Given the description of an element on the screen output the (x, y) to click on. 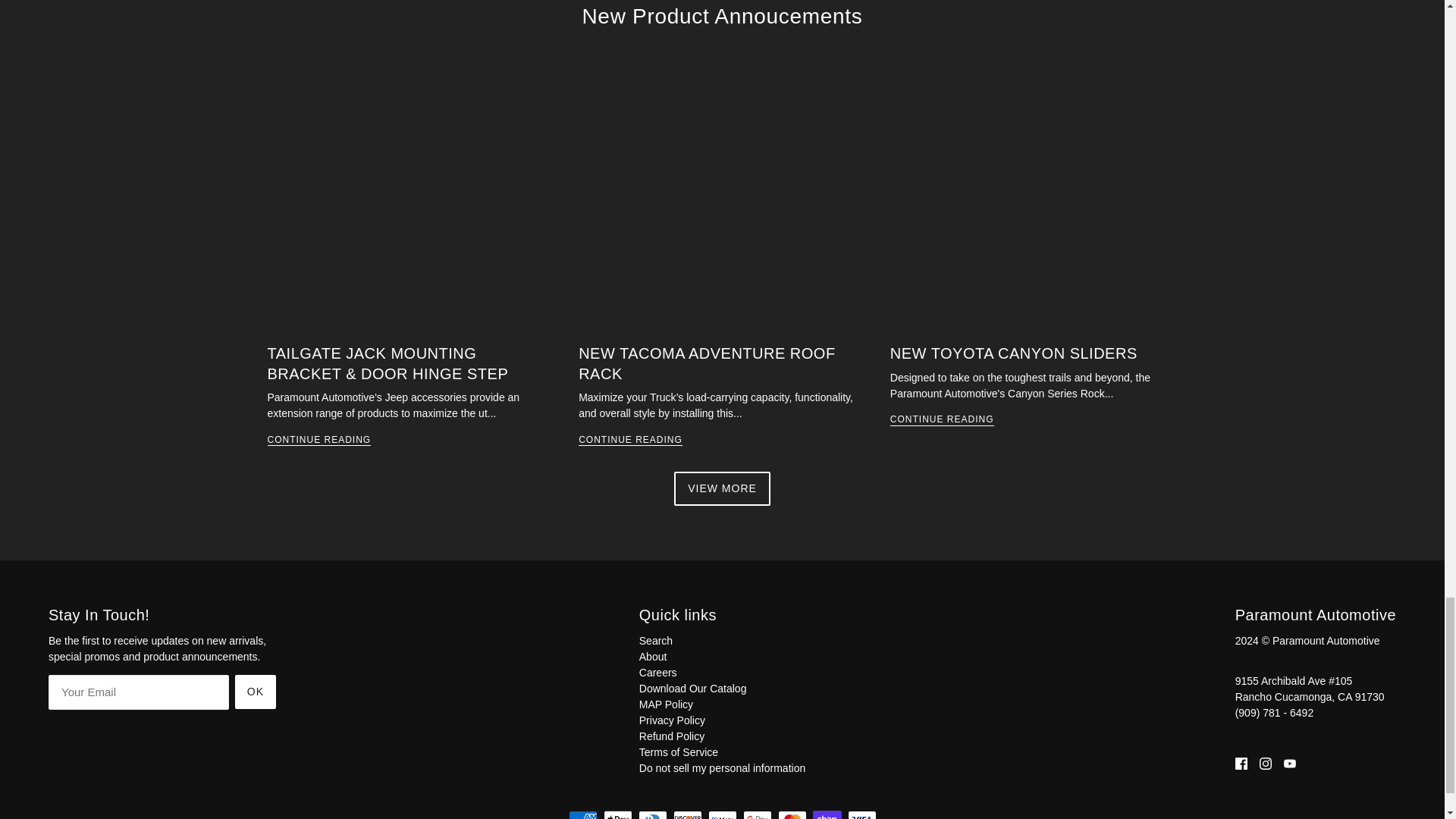
Privacy Policy (671, 720)
Do not sell my personal information (722, 767)
Visa (861, 814)
New Product Annoucements (721, 16)
VIEW MORE (721, 488)
Shop Pay (826, 814)
NEW TACOMA ADVENTURE ROOF RACK (706, 363)
About (652, 656)
Mastercard (791, 814)
American Express (582, 814)
Terms of Service (678, 752)
Discover (686, 814)
CONTINUE READING (941, 419)
MAP Policy (666, 704)
Meta Pay (721, 814)
